Given the description of an element on the screen output the (x, y) to click on. 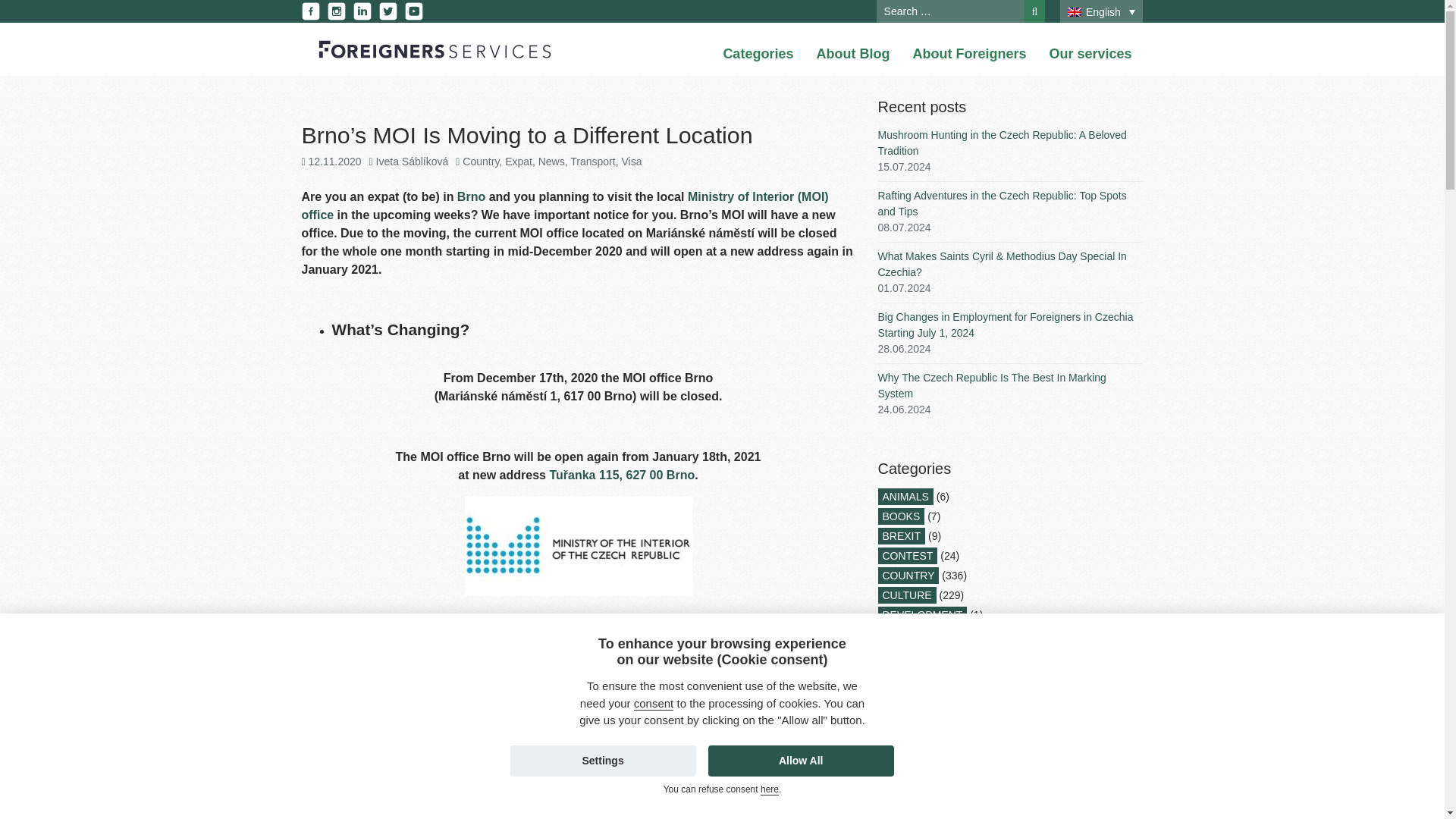
Our services (1089, 54)
About Blog (852, 54)
Visa (631, 161)
12.11.2020 (334, 161)
Country (481, 161)
Transport (592, 161)
Expat (518, 161)
SCHEDULE YOUR ONLINE CONSULTATION (578, 792)
English (1100, 11)
About Foreigners (969, 54)
News (551, 161)
Categories (757, 54)
Brno (470, 196)
